Given the description of an element on the screen output the (x, y) to click on. 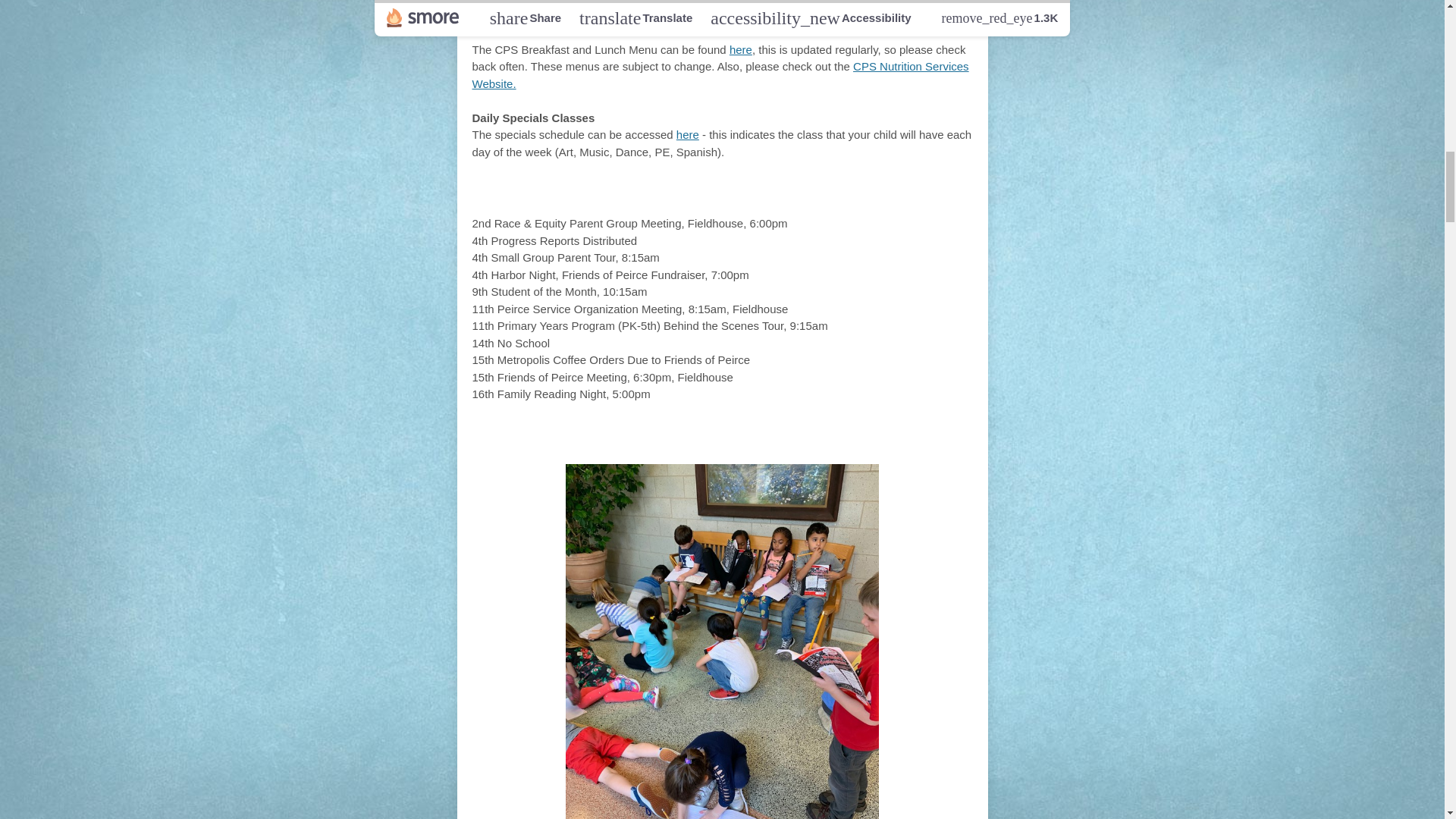
Calendar (763, 194)
Years (665, 437)
CPS Nutrition Services Website. (719, 74)
Programme (756, 437)
here (740, 49)
Primary (593, 437)
here (687, 133)
October (675, 194)
Update (856, 437)
